Given the description of an element on the screen output the (x, y) to click on. 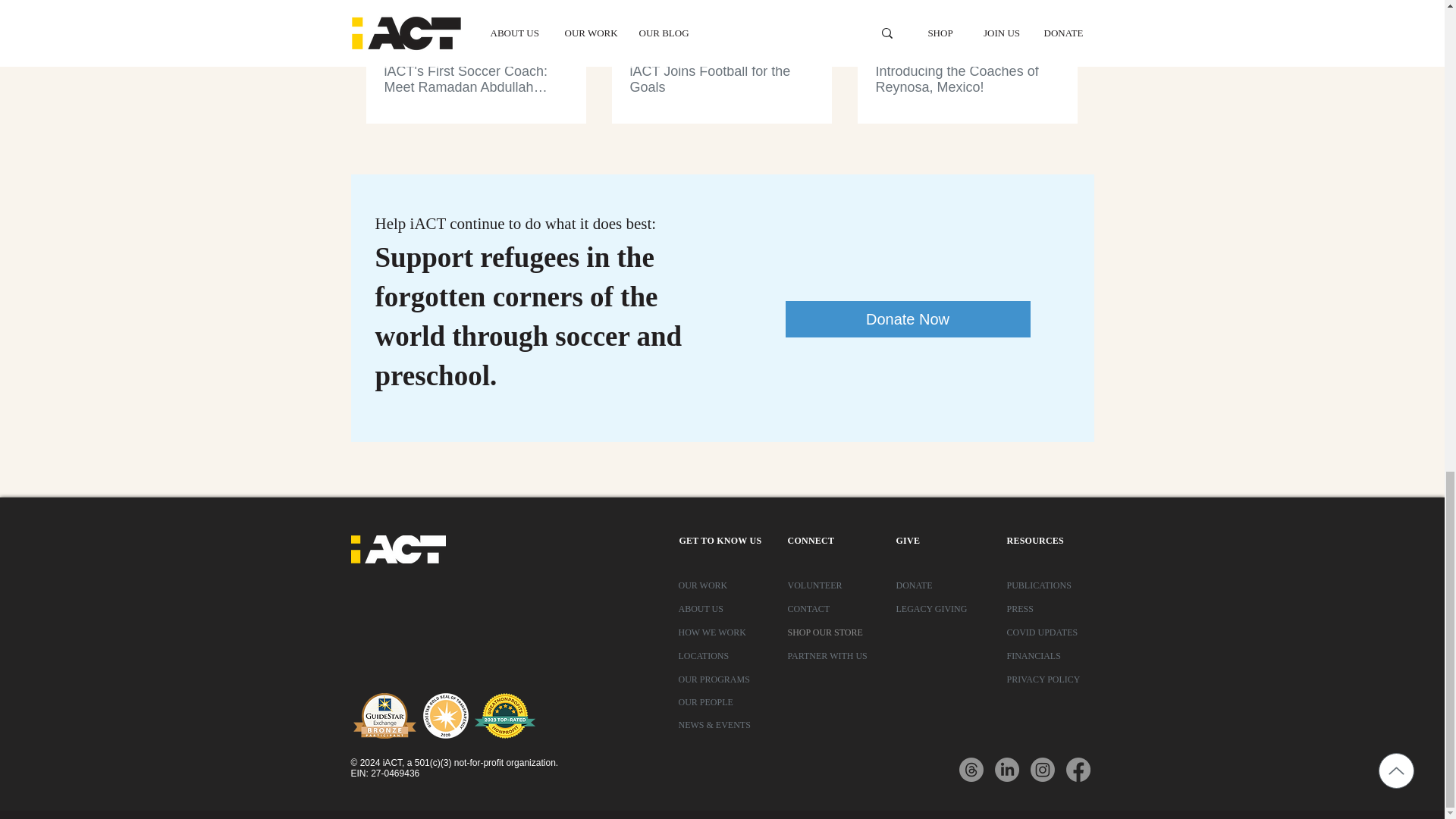
Introducing the Coaches of Reynosa, Mexico! (966, 79)
Donate Now (908, 319)
iACT Joins Football for the Goals (720, 79)
iACT's First Soccer Coach: Meet Ramadan Abdullah Abakar (475, 79)
